Given the description of an element on the screen output the (x, y) to click on. 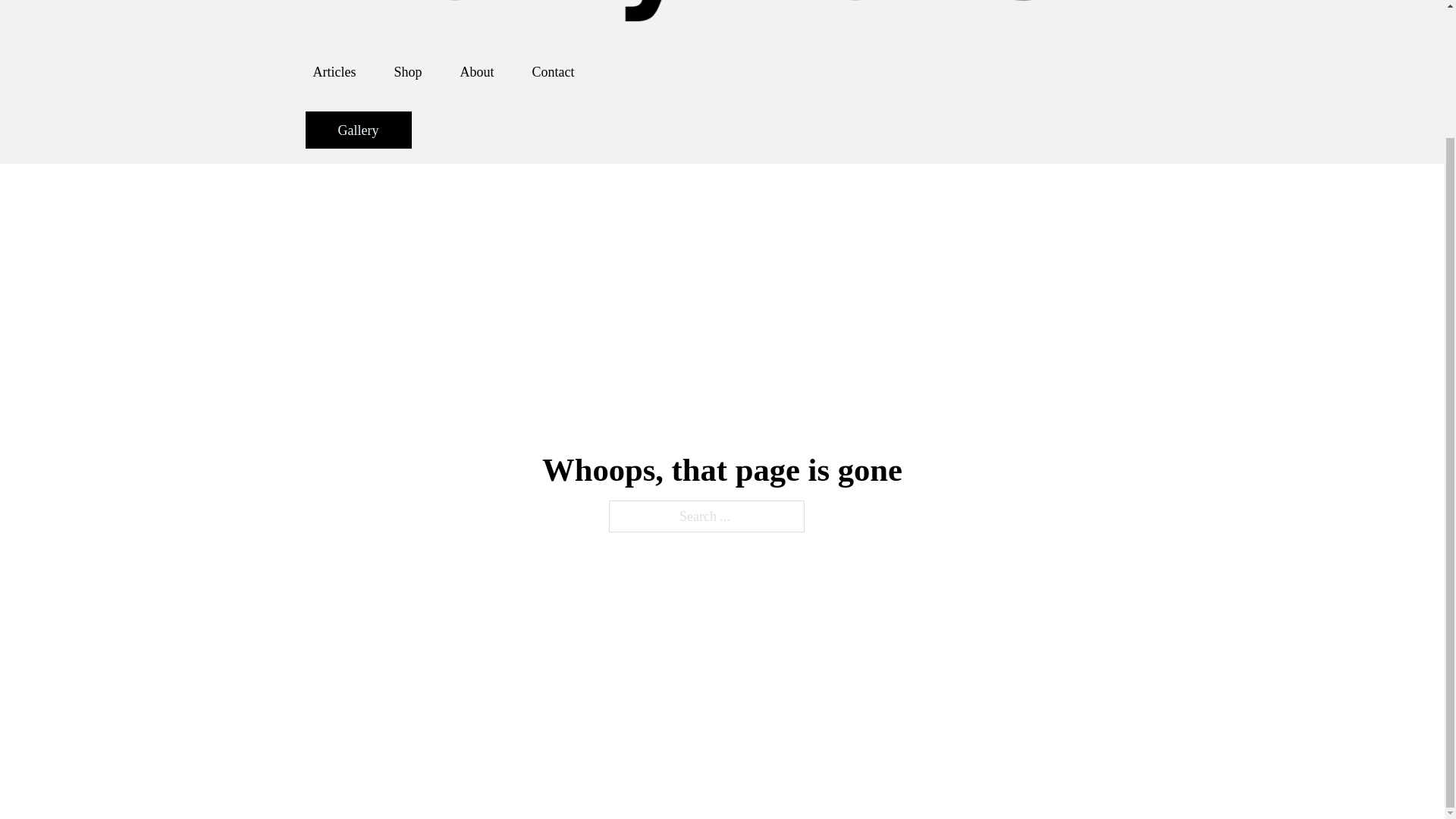
Gallery (357, 129)
Shop (407, 71)
About (475, 71)
Contact (553, 71)
Articles (333, 71)
